Given the description of an element on the screen output the (x, y) to click on. 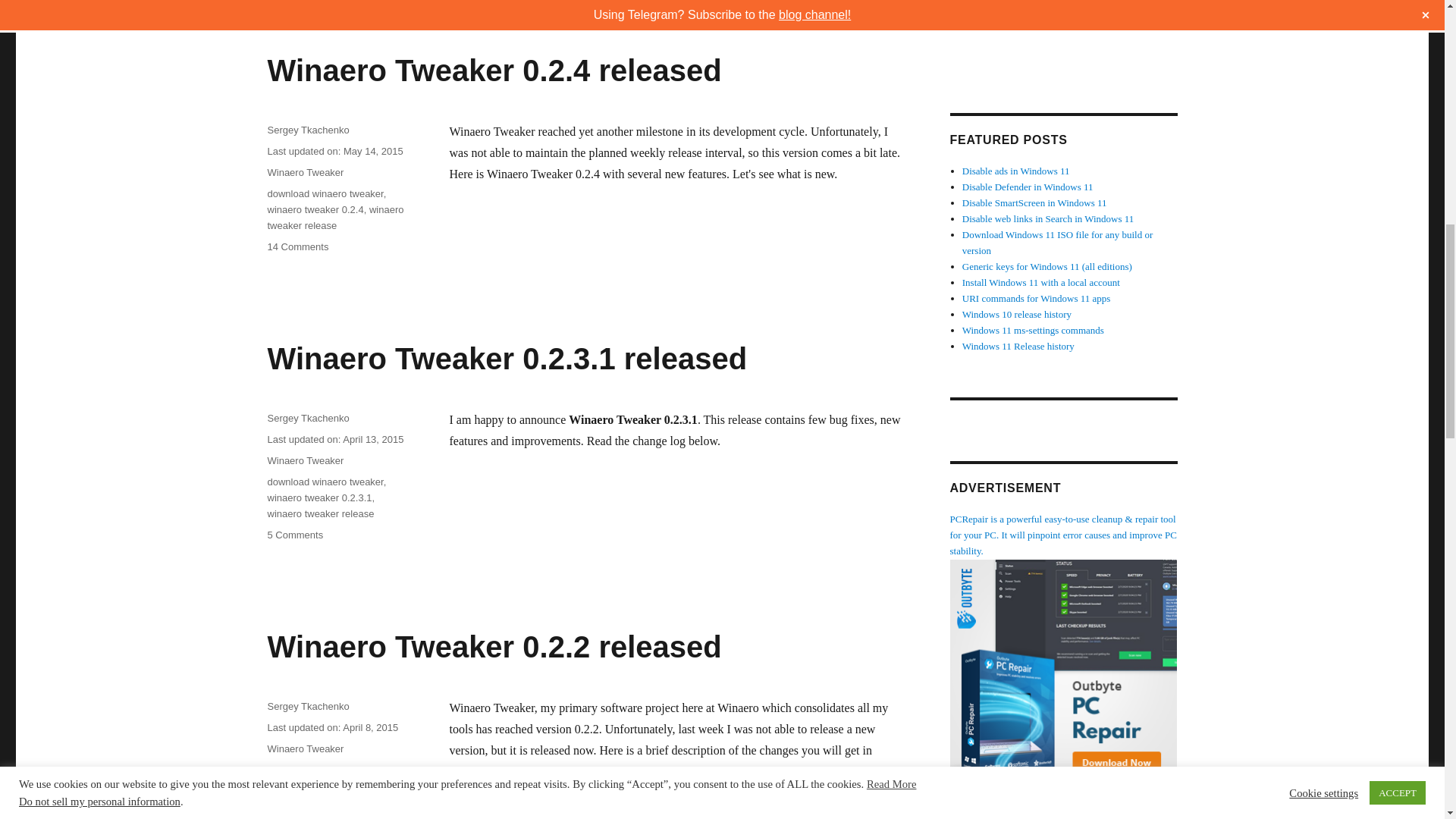
winaero tweaker 0.2.3.1 (297, 246)
download winaero tweaker (318, 497)
winaero tweaker release (324, 481)
winaero tweaker 0.2.2 (334, 216)
Winaero Tweaker 0.2.2 released (314, 769)
winaero tweaker 0.2.4 (493, 646)
Sergey Tkachenko (314, 209)
Sergey Tkachenko (307, 418)
Winaero Tweaker (307, 129)
winaero tweaker release (304, 748)
download winaero tweaker (320, 513)
Winaero Tweaker 0.2.3.1 released (324, 193)
Winaero Tweaker (506, 358)
